Given the description of an element on the screen output the (x, y) to click on. 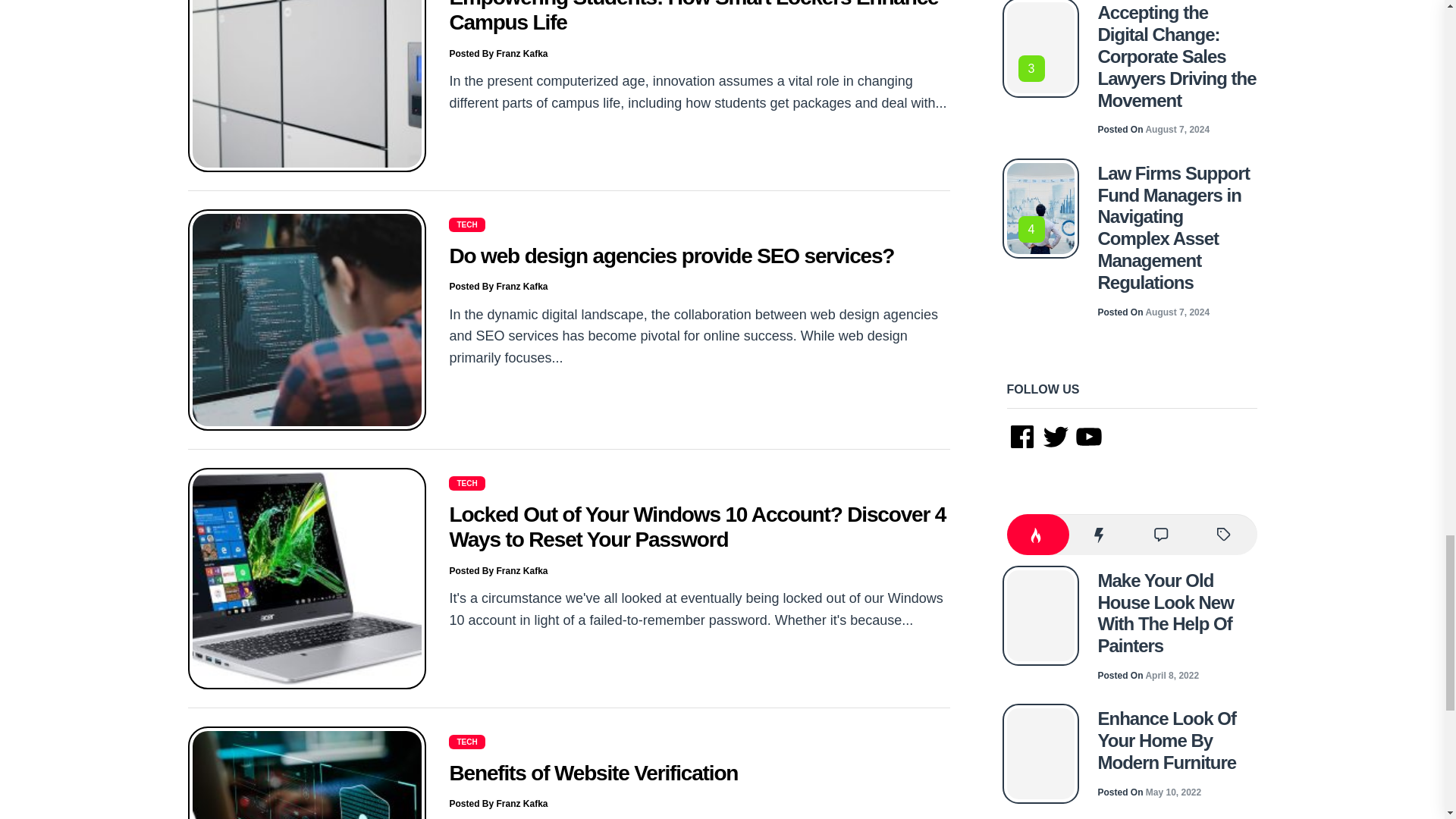
Posted By Franz Kafka (497, 286)
Posted By Franz Kafka (497, 53)
TECH (466, 223)
Posted By Franz Kafka (497, 570)
Posted By Franz Kafka (497, 803)
Empowering Students: How Smart Lockers Enhance Campus Life (692, 17)
Do web design agencies provide SEO services? (670, 255)
TECH (466, 482)
Benefits of Website Verification (593, 772)
